Given the description of an element on the screen output the (x, y) to click on. 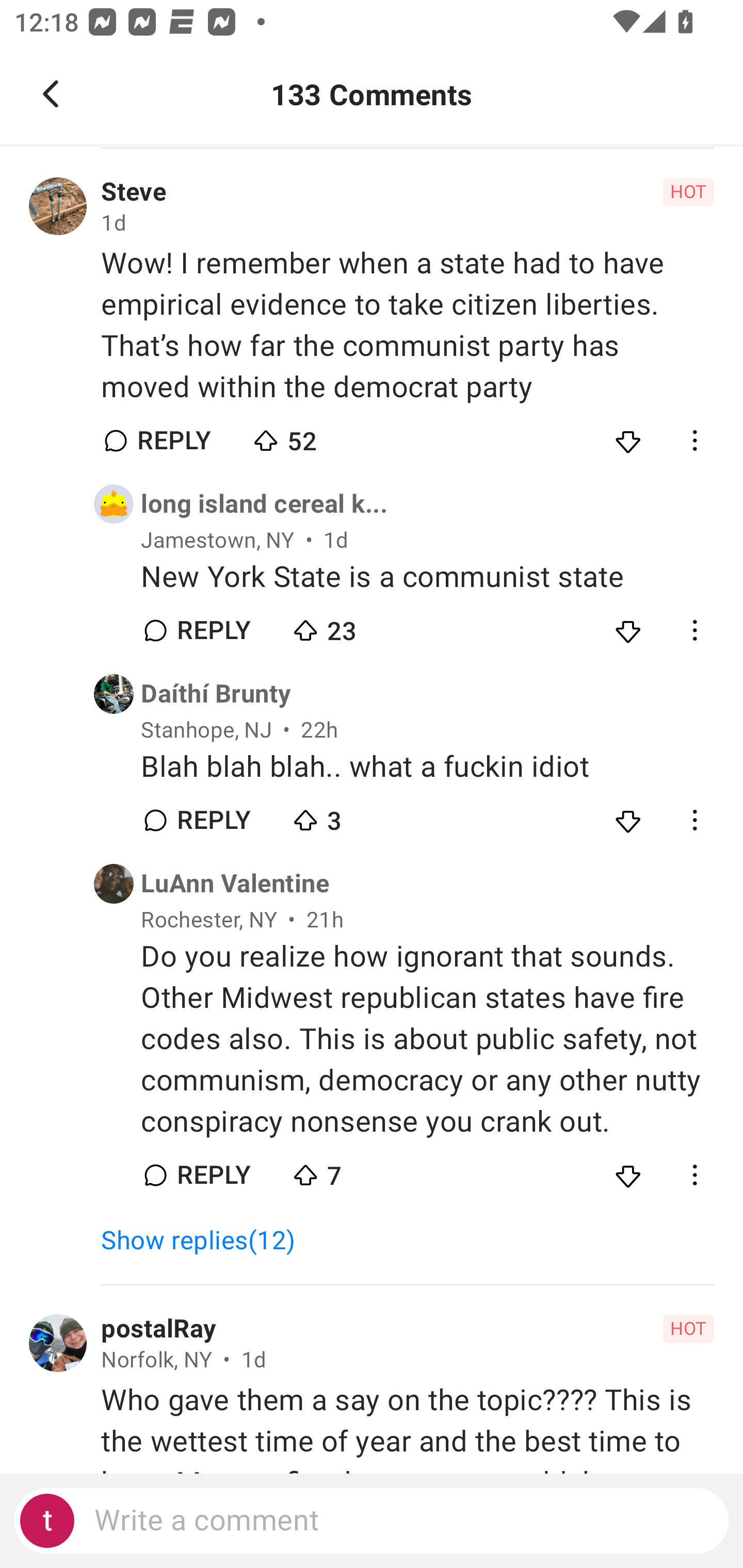
Navigate up (50, 93)
Steve (133, 191)
52 (320, 436)
REPLY (173, 440)
long island cereal k... (264, 504)
New York State is a communist state (427, 576)
23 (360, 626)
REPLY (213, 631)
Daíthí Brunty (216, 693)
Blah blah blah.. what a fuckin idiot  (427, 766)
3 (360, 816)
REPLY (213, 820)
LuAnn Valentine (235, 883)
7 (360, 1170)
REPLY (213, 1175)
Show replies(12) (207, 1241)
postalRay (158, 1328)
Write a comment (371, 1520)
